Given the description of an element on the screen output the (x, y) to click on. 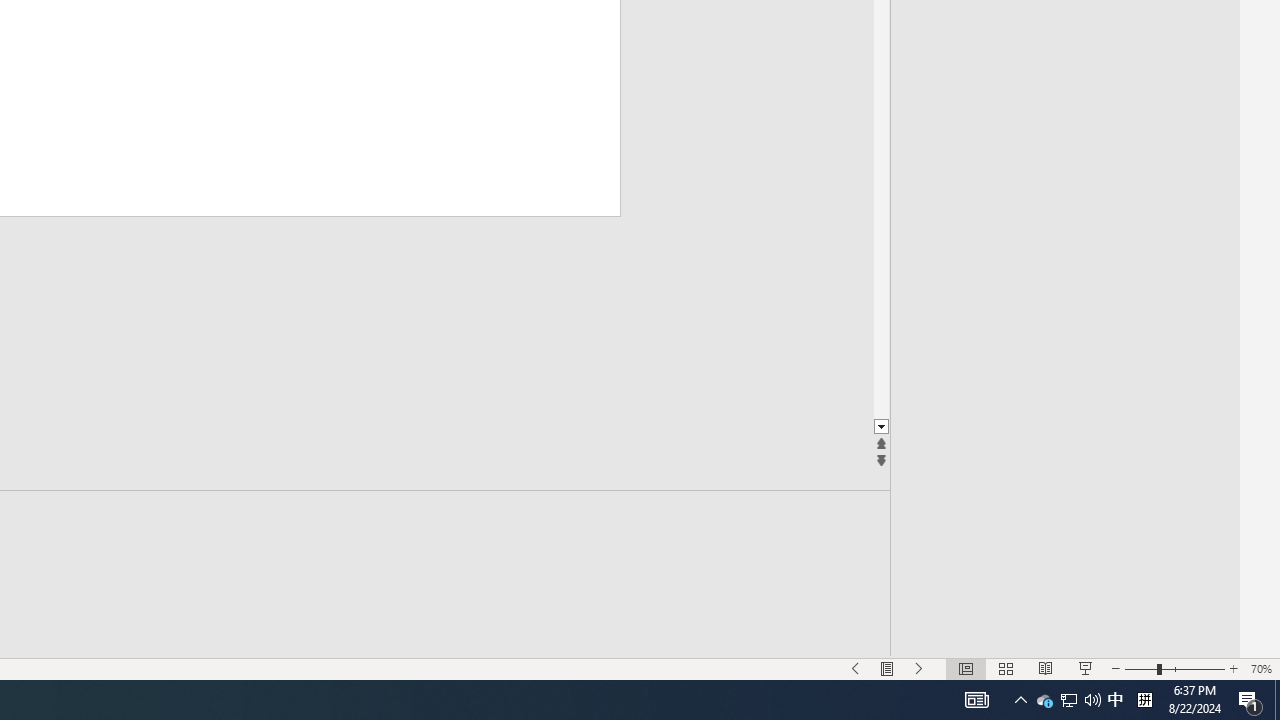
Slide Show Next On (919, 668)
Zoom 70% (1261, 668)
Slide Show Previous On (855, 668)
Menu On (887, 668)
